Given the description of an element on the screen output the (x, y) to click on. 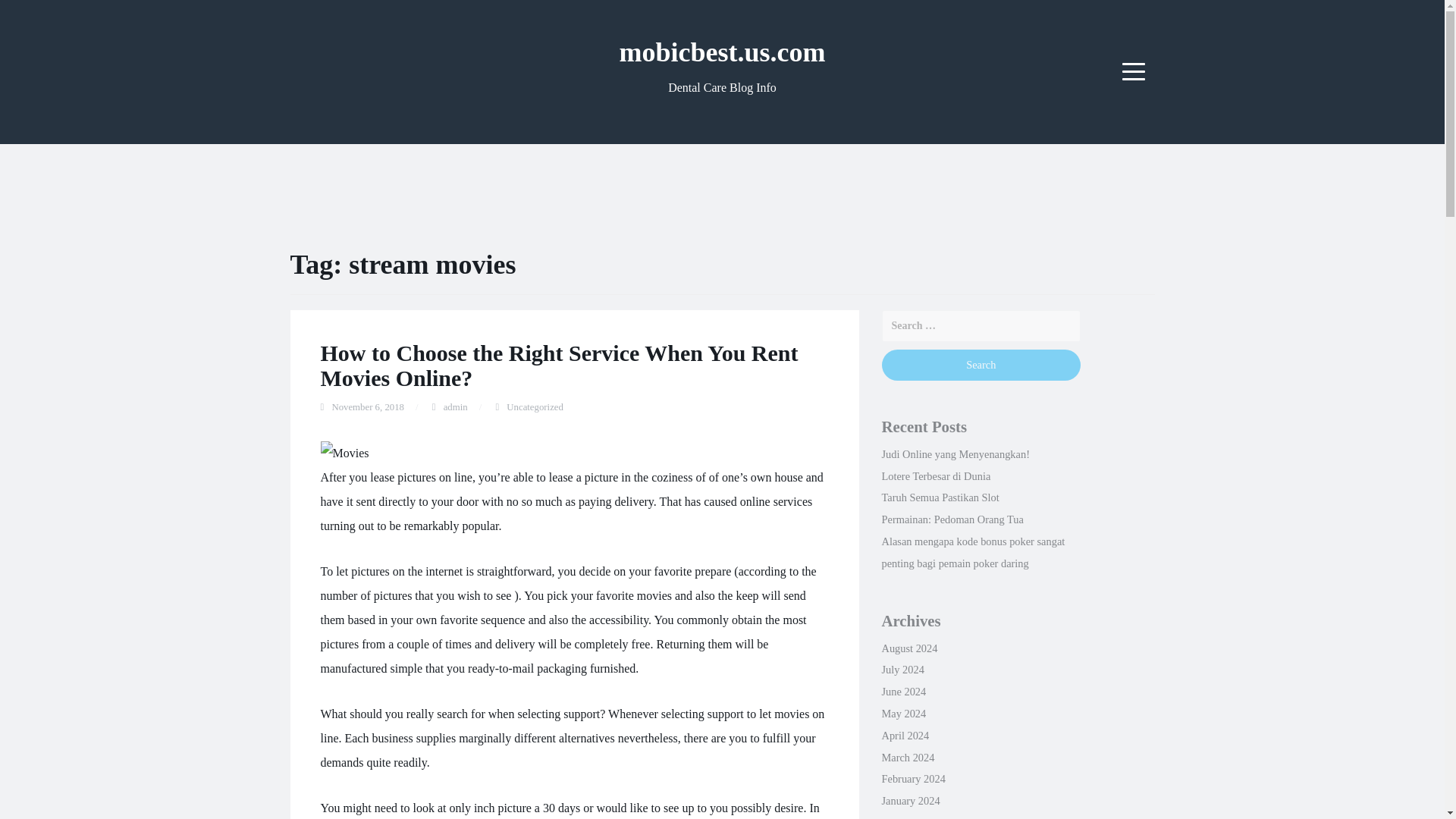
How to Choose the Right Service When You Rent Movies Online? (558, 365)
June 2024 (903, 691)
admin (455, 407)
Search (980, 364)
December 2023 (915, 817)
May 2024 (903, 713)
Menu (1133, 71)
Taruh Semua Pastikan Slot (939, 497)
Search (980, 364)
August 2024 (908, 648)
July 2024 (901, 669)
mobicbest.us.com (721, 51)
Search (980, 364)
November 6, 2018 (367, 407)
